Given the description of an element on the screen output the (x, y) to click on. 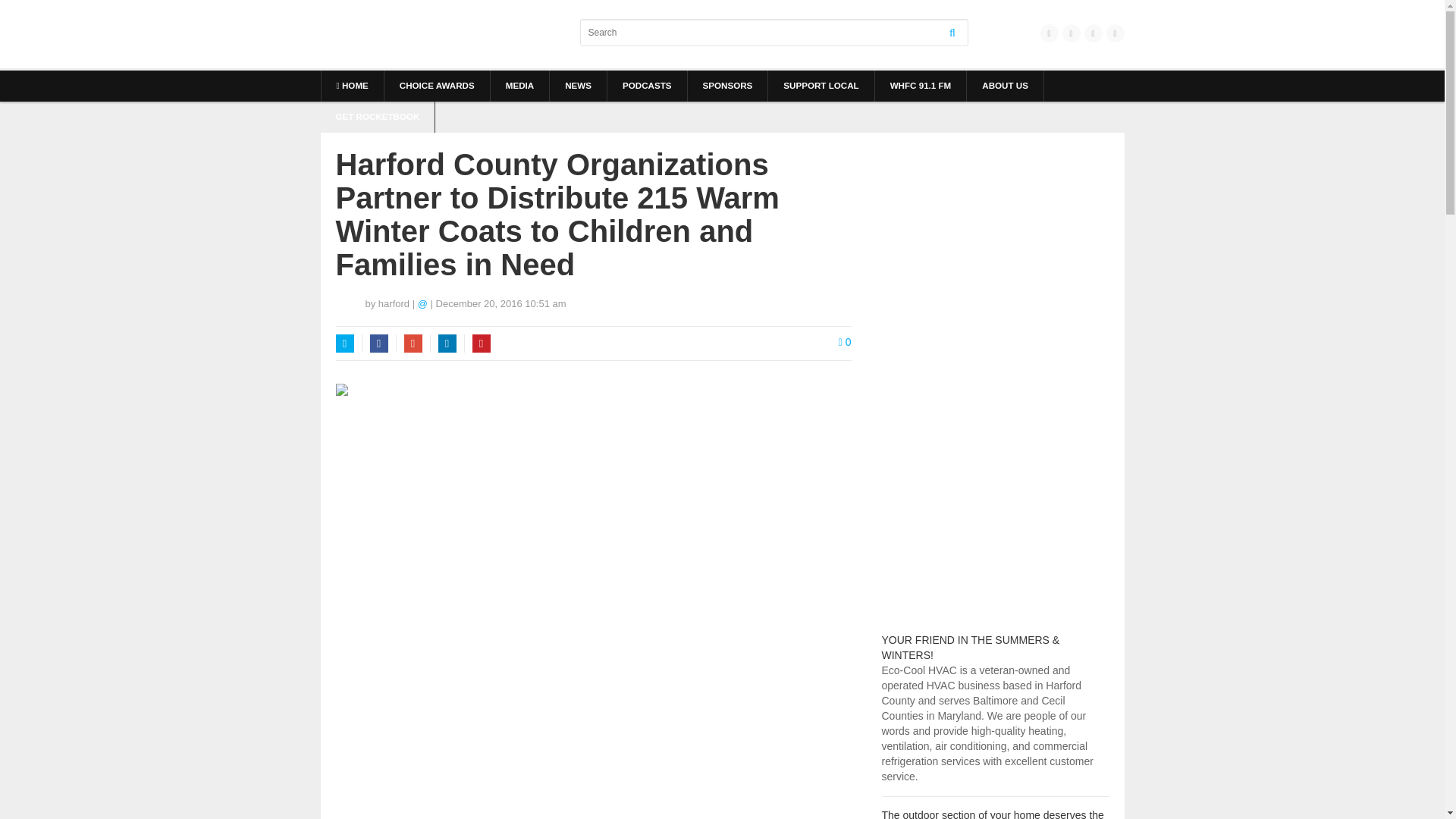
WHFC 91.1 FM (920, 85)
LinkedIn (447, 343)
SPONSORS (727, 85)
Eco-Cool HVAC (969, 646)
MEDIA (519, 85)
CHOICE AWARDS (436, 85)
GET ROCKETBOOK (376, 116)
ABOUT US (1004, 85)
harford (393, 303)
NEWS (578, 85)
